Given the description of an element on the screen output the (x, y) to click on. 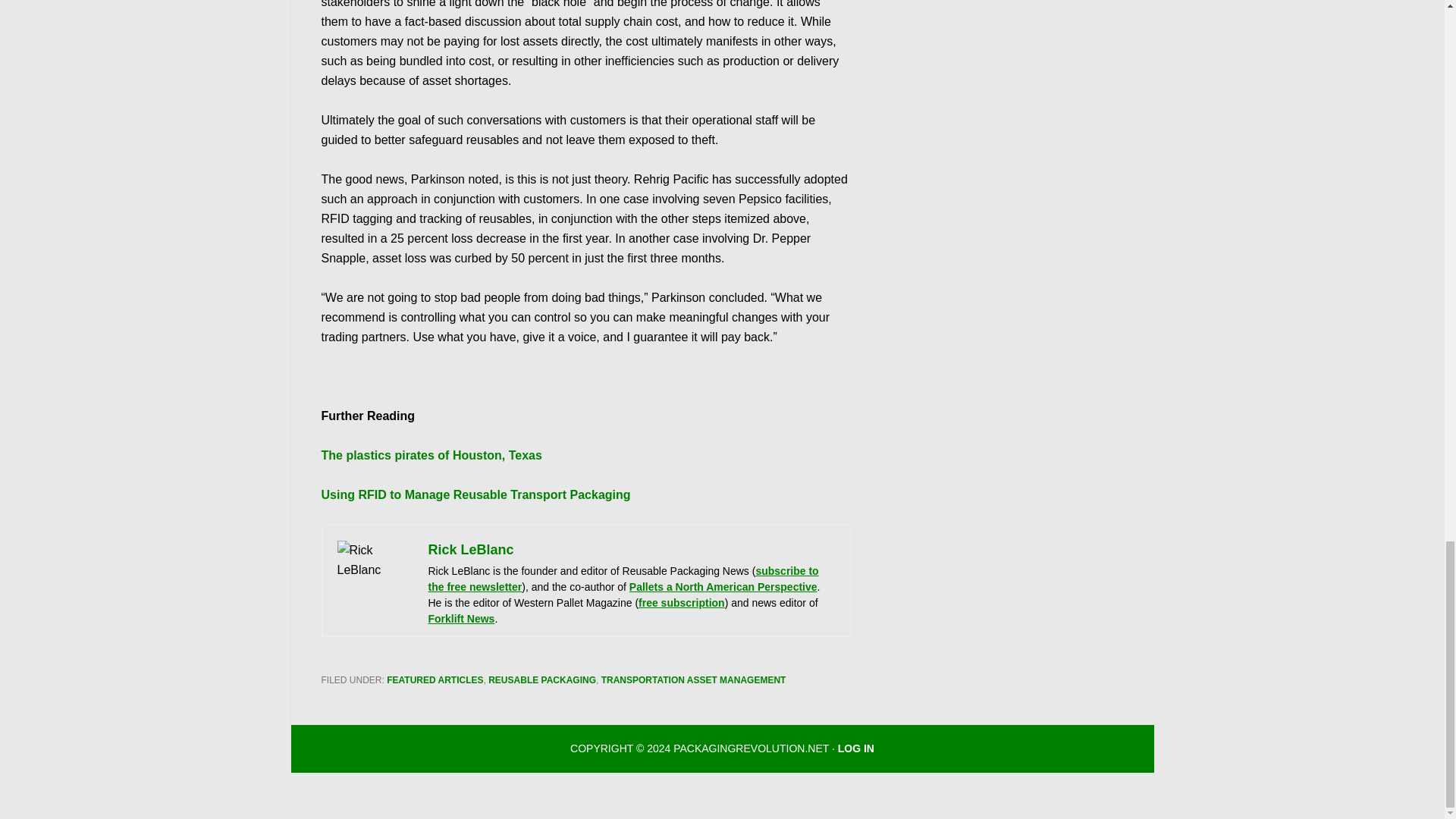
FEATURED ARTICLES (435, 679)
The plastics pirates of Houston, Texas (431, 454)
TRANSPORTATION ASSET MANAGEMENT (693, 679)
Using RFID to Manage Reusable Transport Packaging (475, 494)
free subscription (682, 603)
Rick LeBlanc (470, 549)
Pallets a North American Perspective (722, 586)
Forklift News (461, 618)
subscribe to the free newsletter (623, 578)
Prevent Reusable Asset Loss by Giving Reusables a Voice 3 (374, 578)
REUSABLE PACKAGING (541, 679)
